Given the description of an element on the screen output the (x, y) to click on. 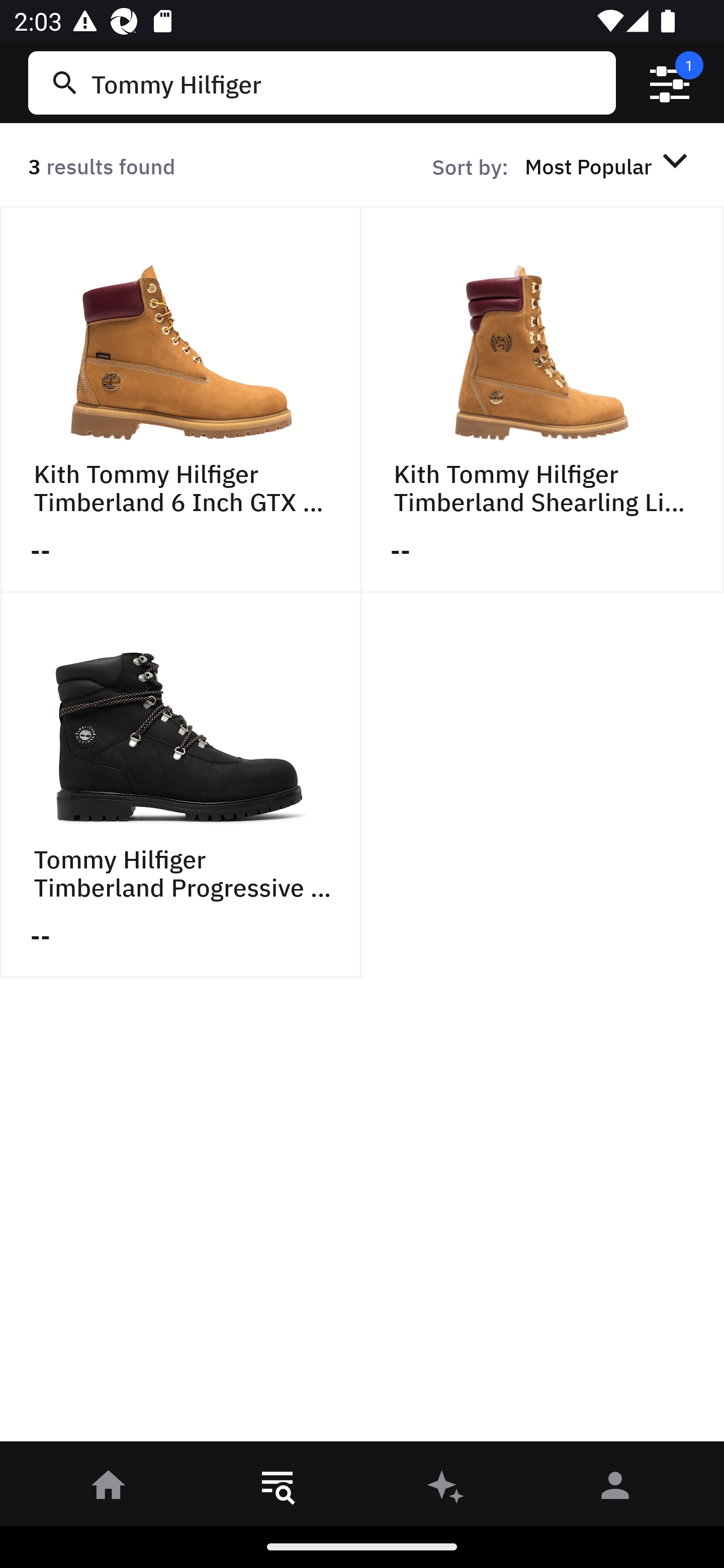
Tommy Hilfiger (349, 82)
 (669, 82)
Most Popular  (609, 165)
󰋜 (108, 1488)
󱎸 (277, 1488)
󰫢 (446, 1488)
󰀄 (615, 1488)
